Given the description of an element on the screen output the (x, y) to click on. 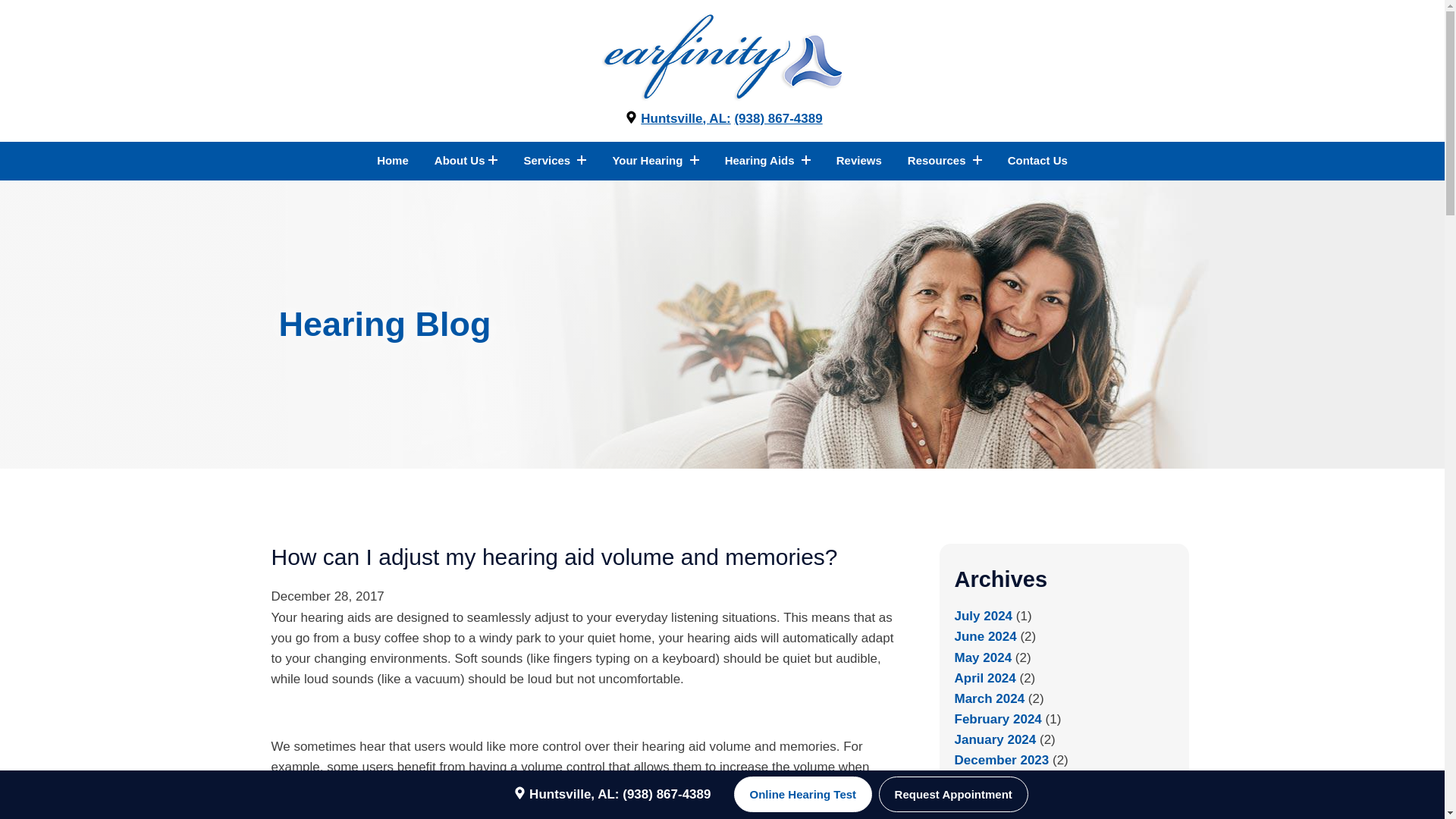
Services (554, 160)
Home (393, 160)
Hearing Aids (767, 160)
Reviews (858, 160)
About Us (465, 160)
Huntsville, AL: (675, 117)
Resources (944, 160)
Your Hearing (654, 160)
